Given the description of an element on the screen output the (x, y) to click on. 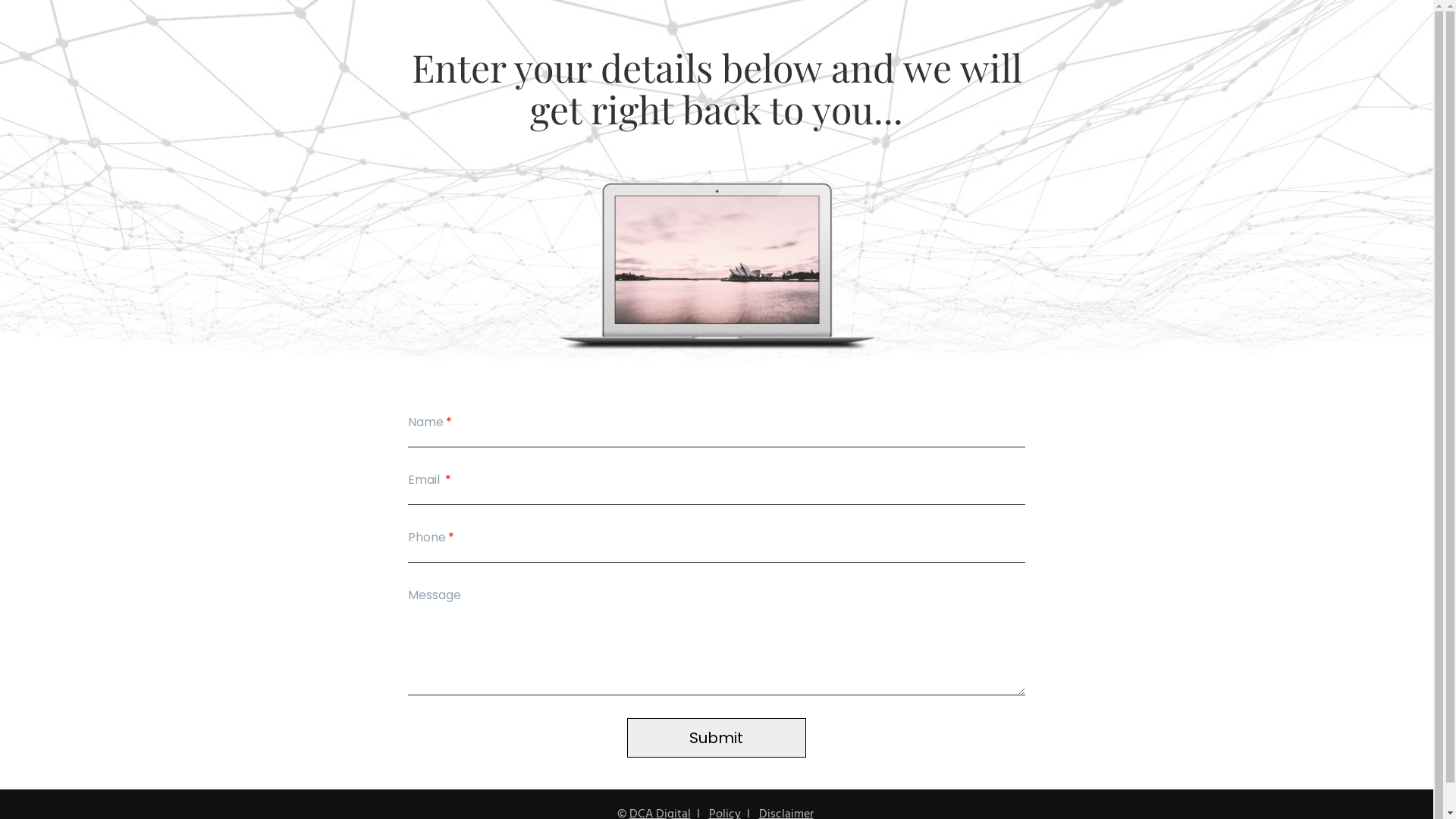
Submit Element type: text (716, 737)
web_design_sydney_15 Element type: hover (716, 266)
